Given the description of an element on the screen output the (x, y) to click on. 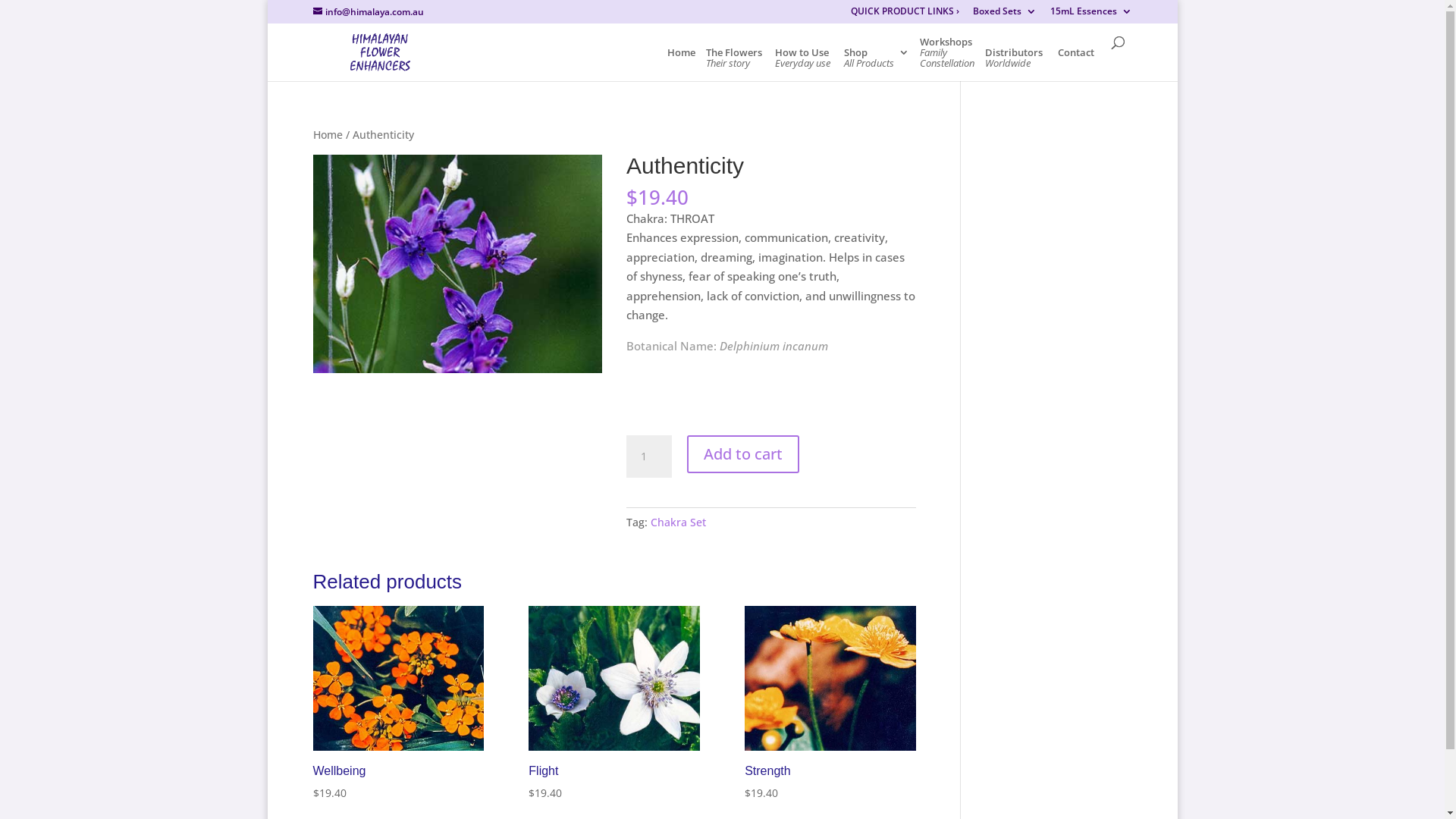
Home Element type: text (327, 134)
Home
  Element type: text (681, 64)
info@himalaya.com.au Element type: text (367, 11)
How to Use  
Everyday use Element type: text (804, 64)
The Flowers 
Their story  Element type: text (734, 64)
Wellbeing
$19.40 Element type: text (397, 703)
Chakra Set Element type: text (678, 521)
Contact
  Element type: text (1075, 64)
Shop
All Products Element type: text (875, 64)
Add to cart Element type: text (743, 454)
Workshops
Family
Constellation Element type: text (946, 58)
Flight
$19.40 Element type: text (613, 703)
Strength
$19.40 Element type: text (829, 703)
Distributors  
Worldwide Element type: text (1015, 64)
Boxed Sets Element type: text (1003, 14)
15mL Essences Element type: text (1090, 14)
